Given the description of an element on the screen output the (x, y) to click on. 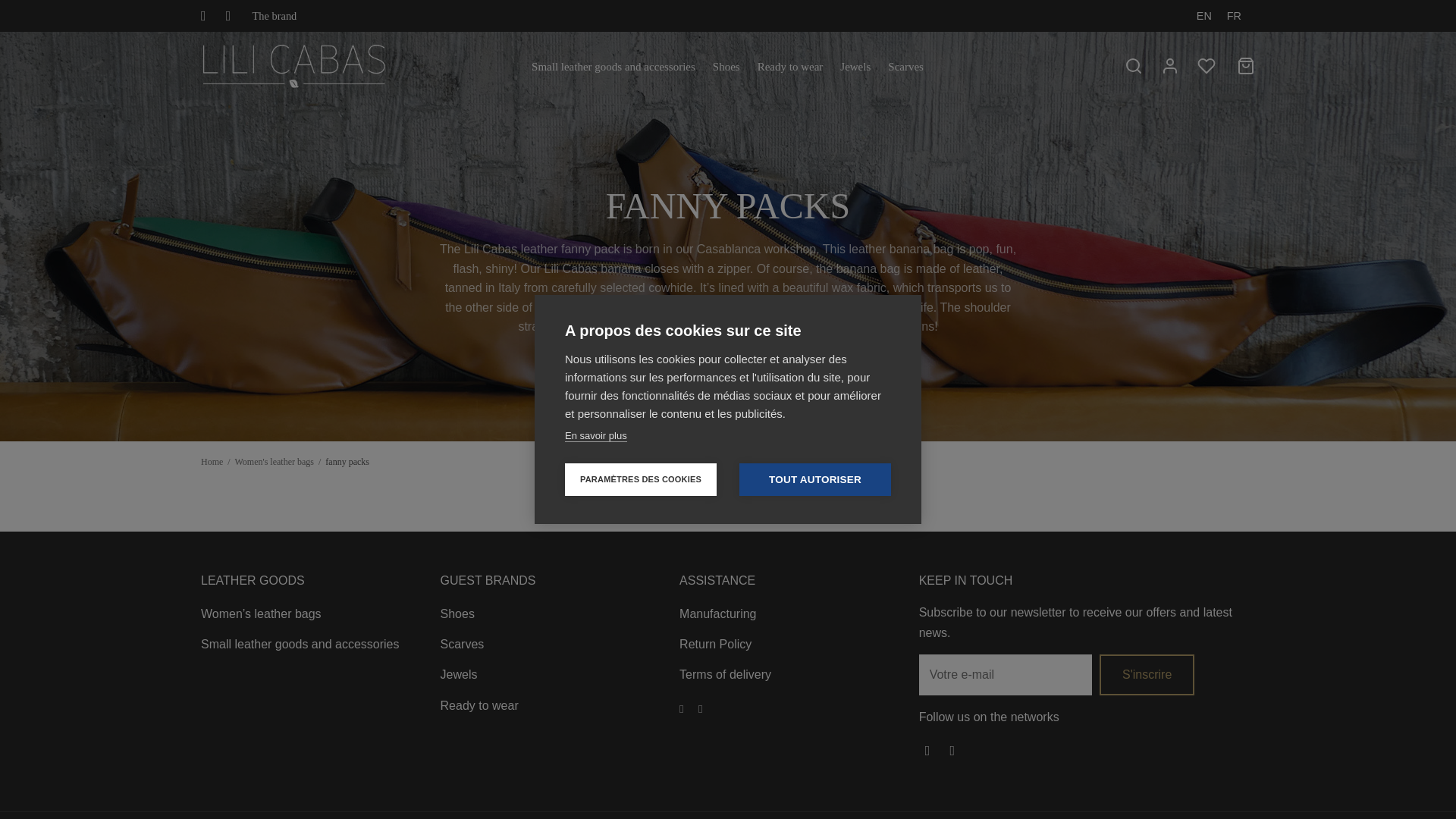
Small leather goods and accessories (613, 66)
FR (1234, 15)
Jewels (855, 66)
Scarves (905, 66)
S'inscrire (1146, 674)
Shoes (726, 66)
Ready to wear (790, 66)
The brand (274, 15)
EN (1204, 15)
